Given the description of an element on the screen output the (x, y) to click on. 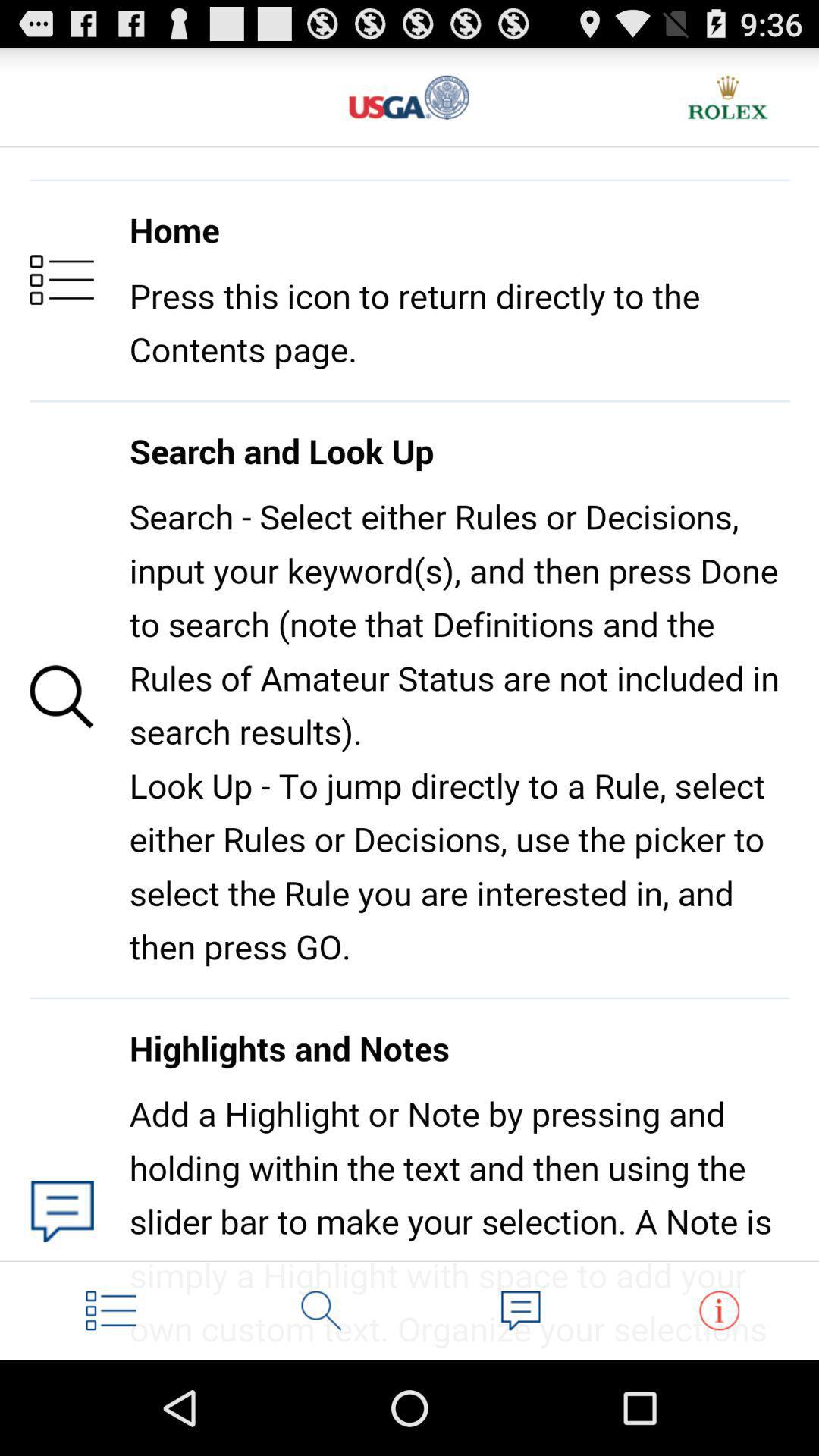
turn off the icon at the top right corner (728, 97)
